Given the description of an element on the screen output the (x, y) to click on. 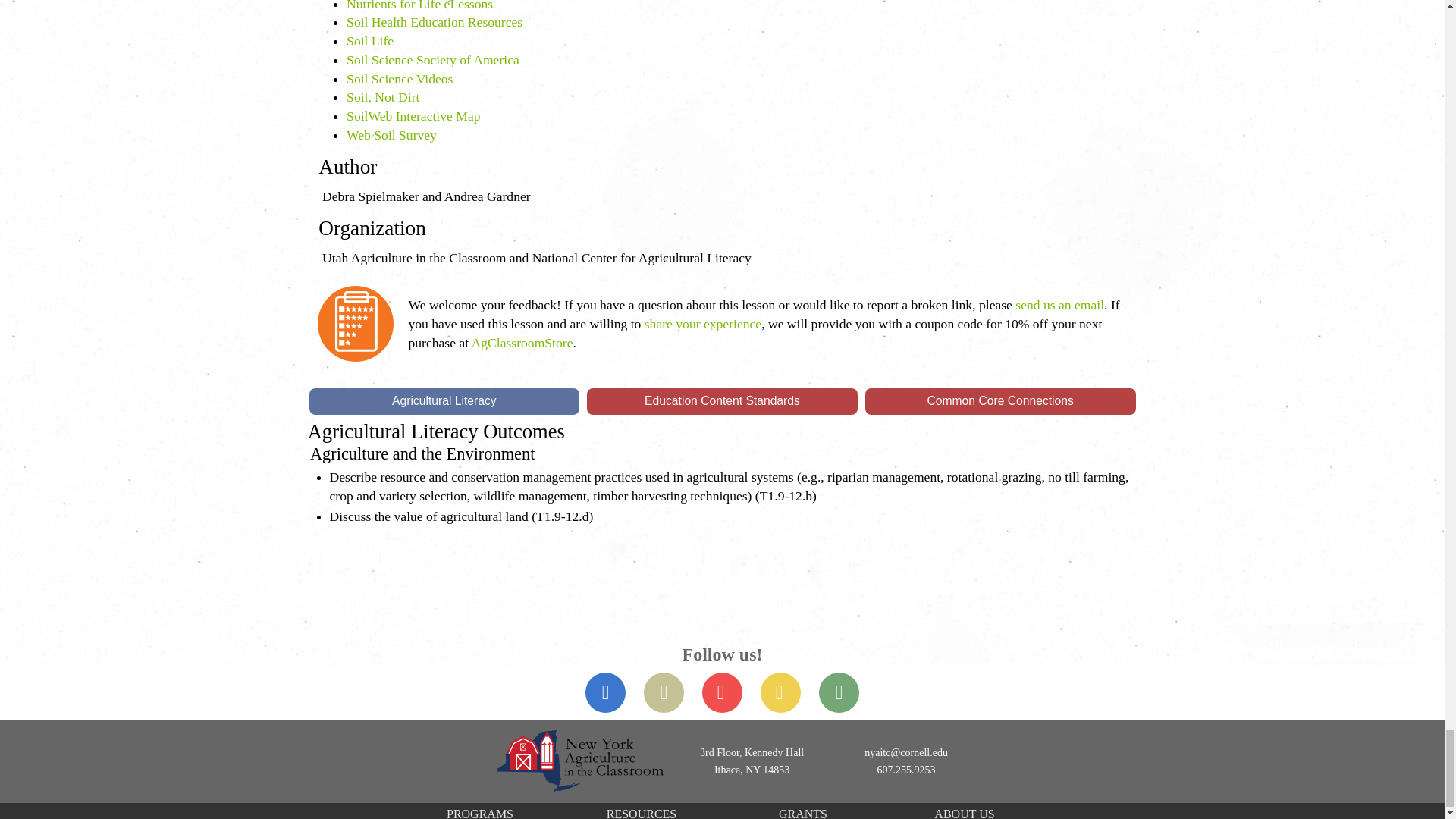
New York Agriculture in the Classroom (579, 760)
